Given the description of an element on the screen output the (x, y) to click on. 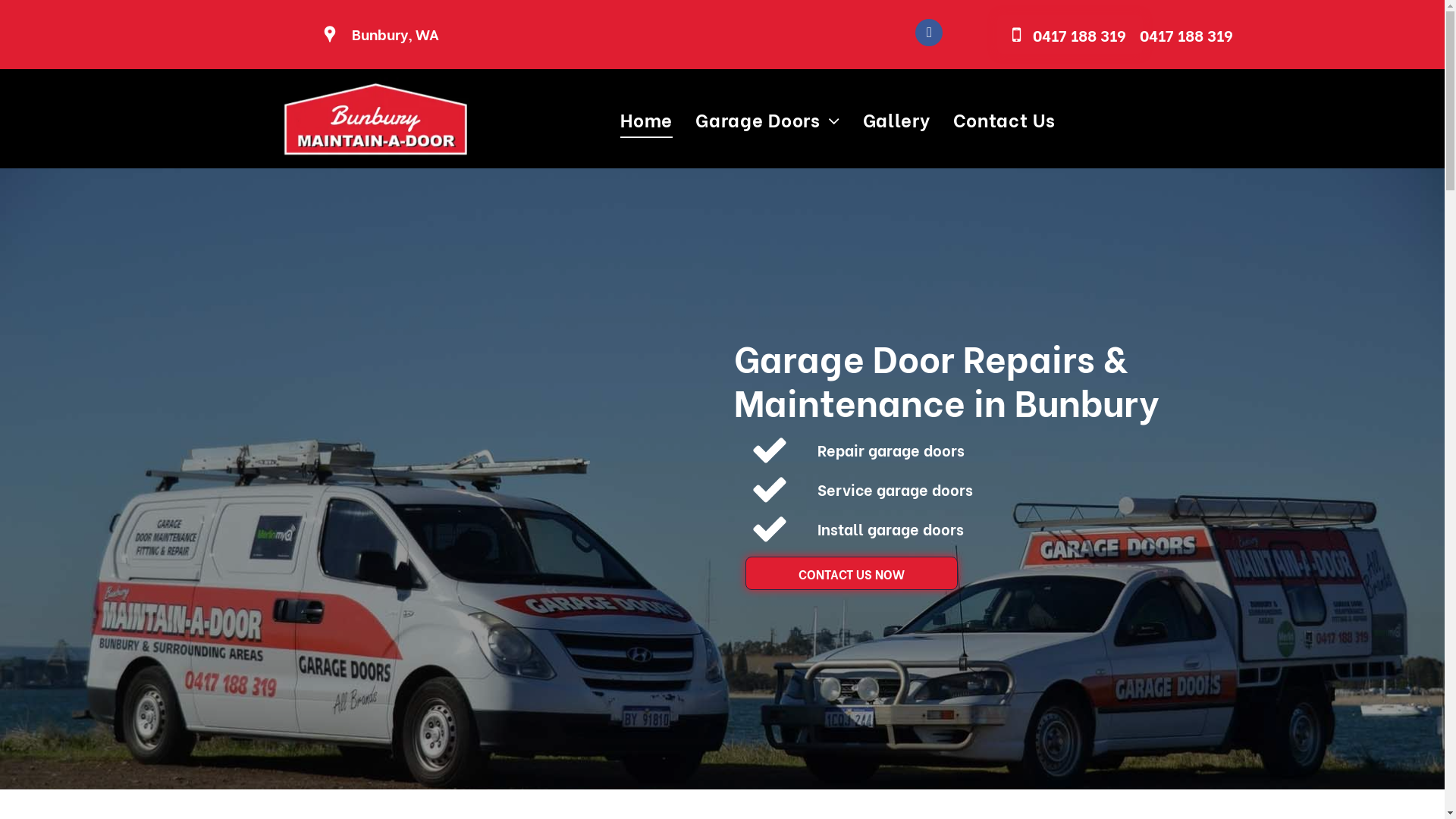
Contact Us Element type: text (1003, 119)
Home Element type: text (646, 119)
CONTACT US NOW Element type: text (850, 573)
Bunbury, WA Element type: text (395, 32)
Bunbury Maintain-A-Door Element type: hover (373, 118)
Garage Doors Element type: text (767, 119)
0417 188 319 0417 188 319 Element type: text (1069, 34)
Gallery Element type: text (895, 119)
